Given the description of an element on the screen output the (x, y) to click on. 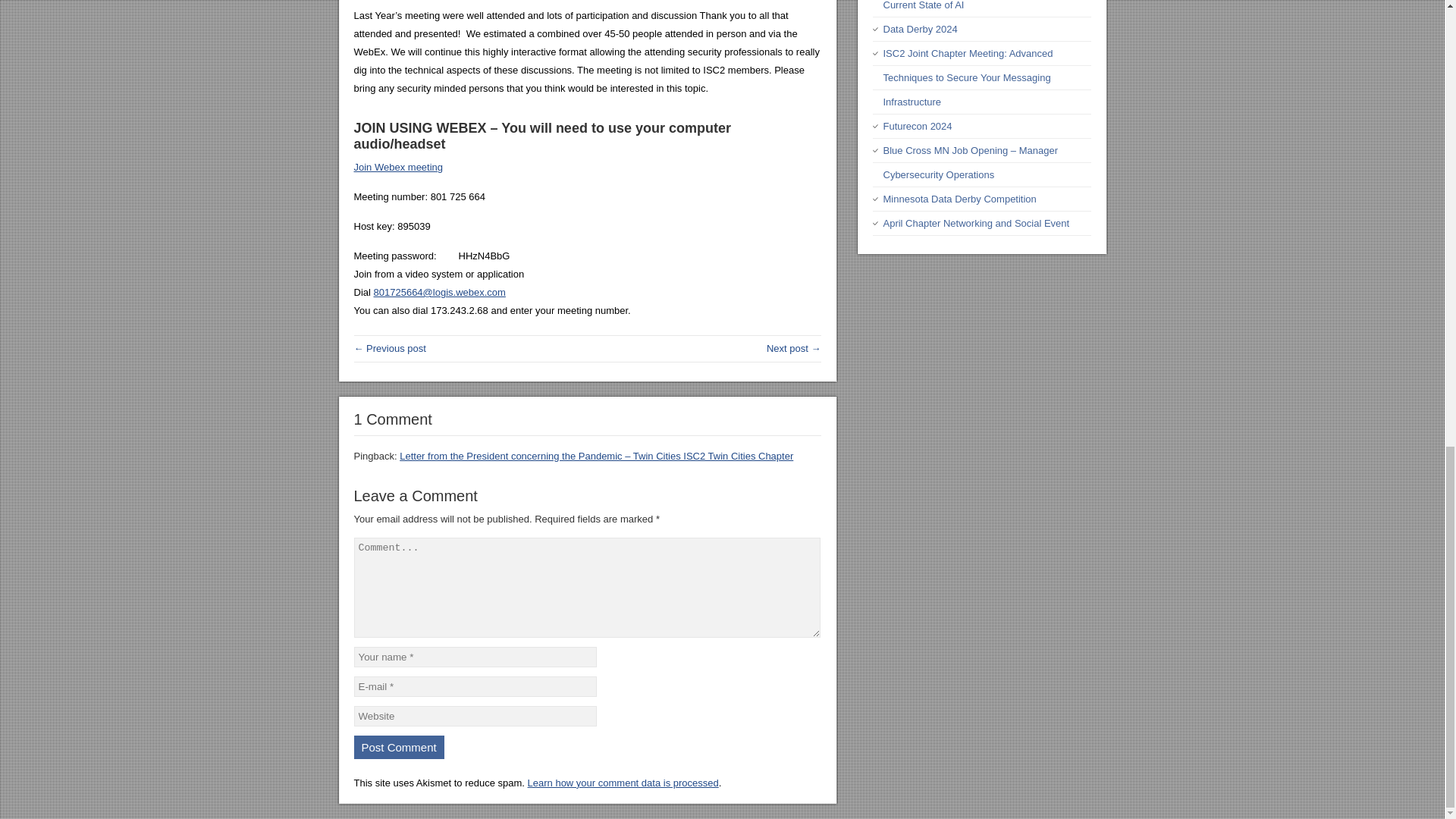
April Chapter Networking and Social Event (975, 223)
Post Comment (398, 747)
Join Webex meeting (397, 166)
Nominations Are Open for Board Positions (794, 348)
Futurecon 2024 (917, 125)
Post Comment (398, 747)
Minnesota Data Derby Competition (958, 198)
Learn how your comment data is processed (623, 782)
Data Derby 2024 (919, 29)
